Given the description of an element on the screen output the (x, y) to click on. 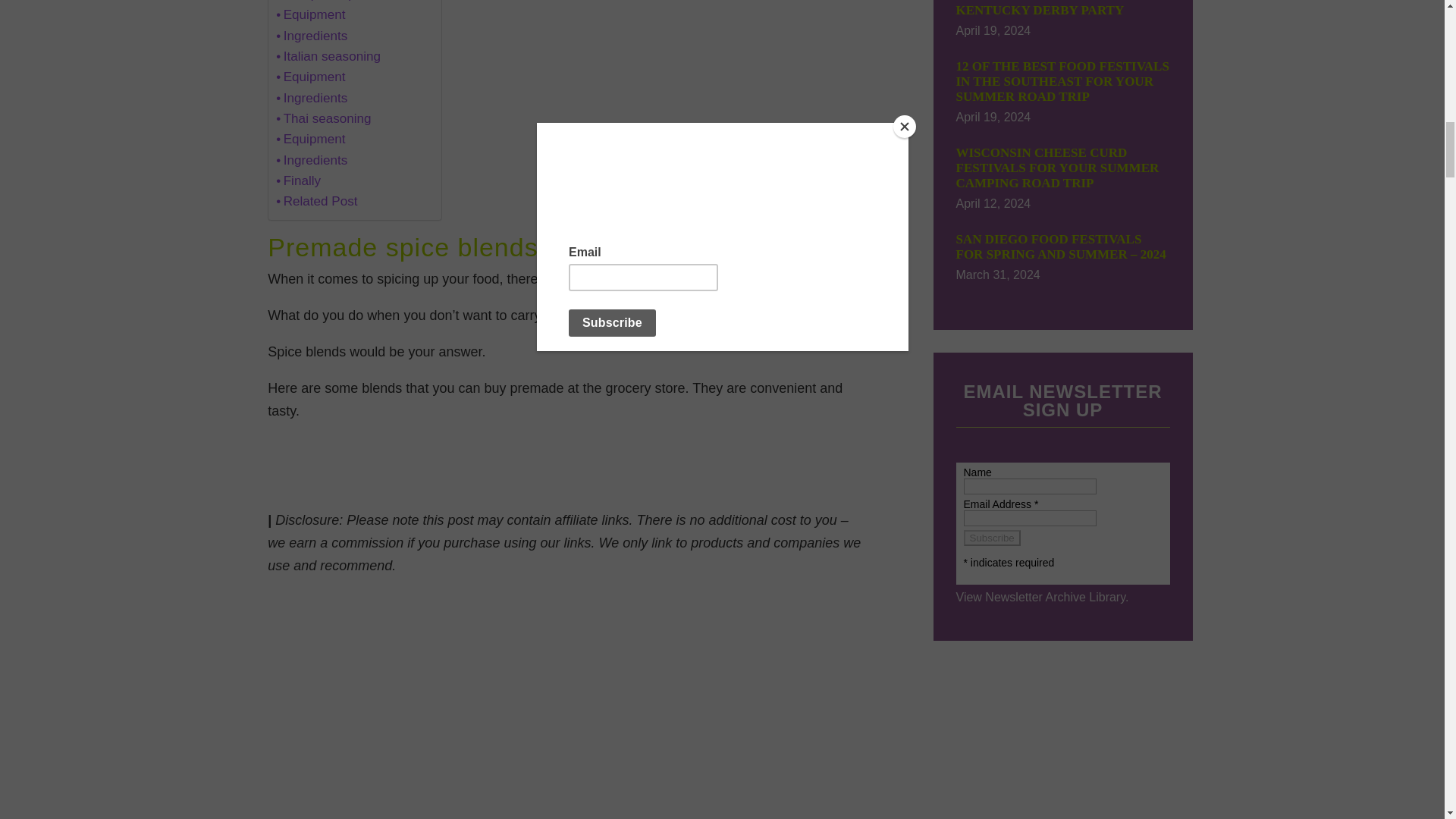
Thai seasoning (323, 118)
Campfire Spice Mix (336, 2)
Equipment (310, 14)
Subscribe (991, 537)
Equipment (310, 76)
Italian seasoning (328, 55)
Ingredients (311, 97)
Ingredients (311, 35)
